Given the description of an element on the screen output the (x, y) to click on. 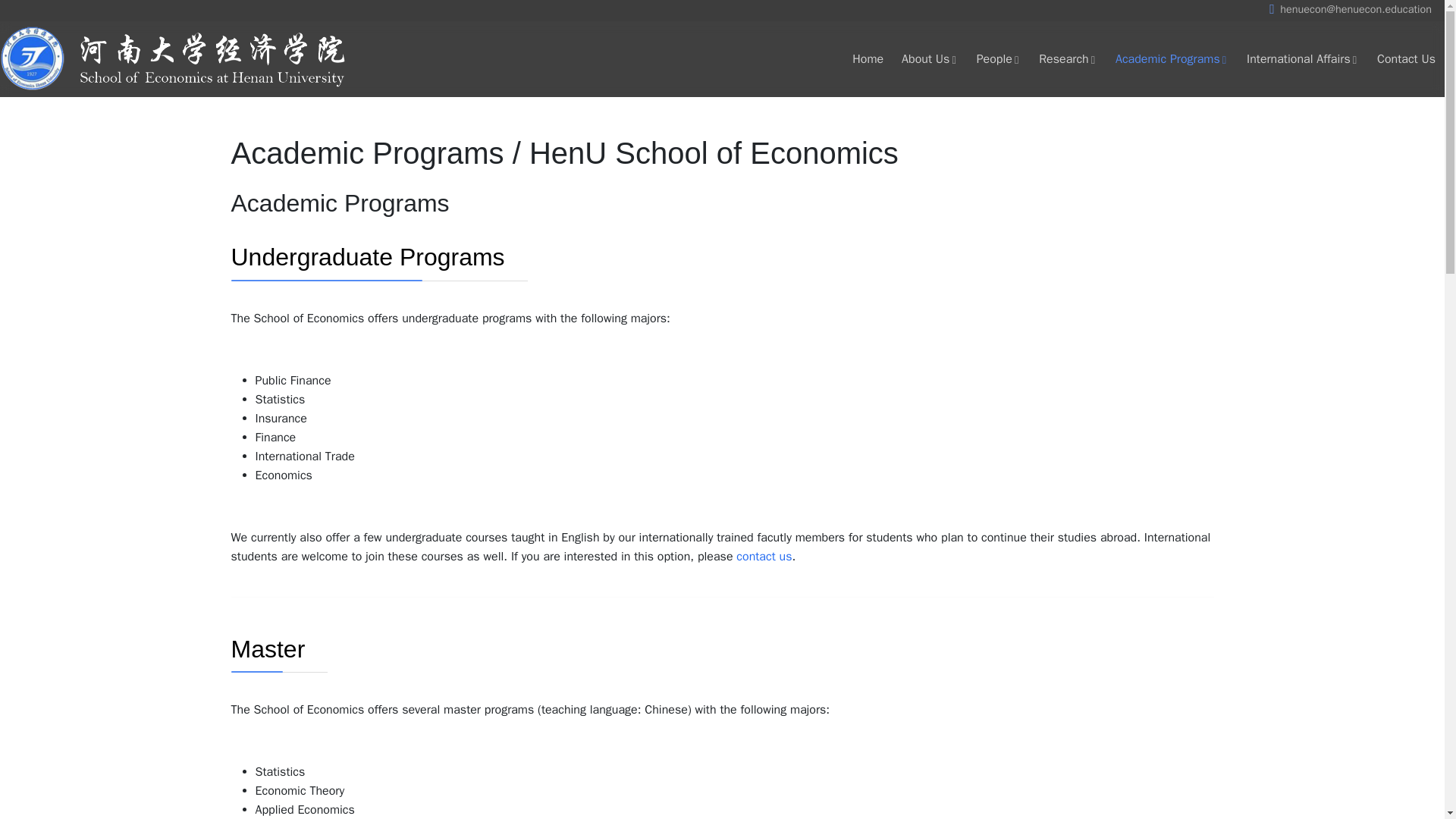
Academic Programs (1171, 59)
contact us (764, 556)
Undergraduate Programs (366, 257)
Research (1067, 59)
Master (267, 648)
International Affairs (1302, 59)
About Us (930, 59)
